Given the description of an element on the screen output the (x, y) to click on. 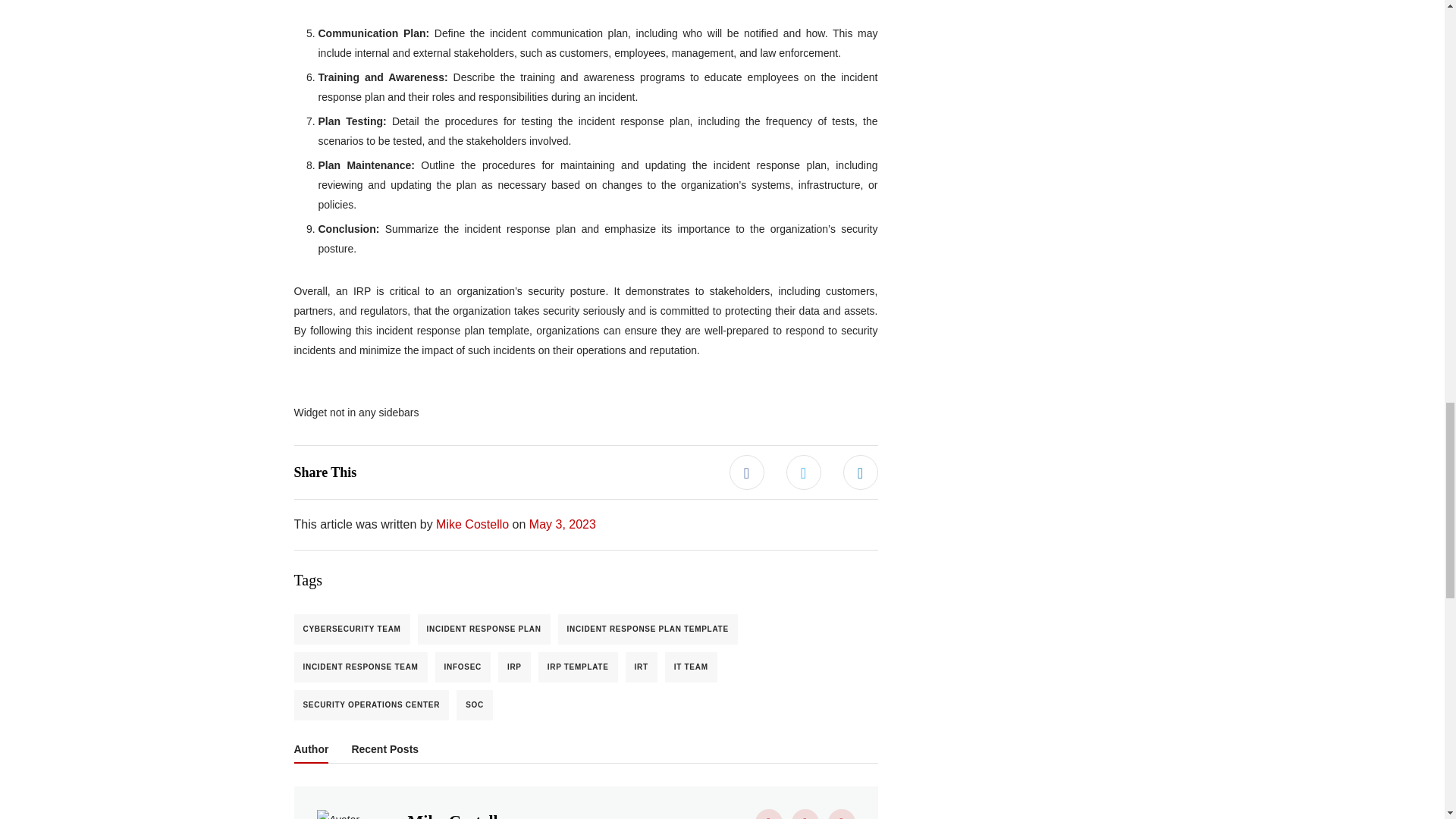
INCIDENT RESPONSE PLAN TEMPLATE (647, 629)
Mike Costello (471, 523)
INFOSEC (462, 666)
IRP (514, 666)
INCIDENT RESPONSE TEAM (361, 666)
May 3, 2023 (562, 523)
INCIDENT RESPONSE PLAN (483, 629)
CYBERSECURITY TEAM (352, 629)
